Given the description of an element on the screen output the (x, y) to click on. 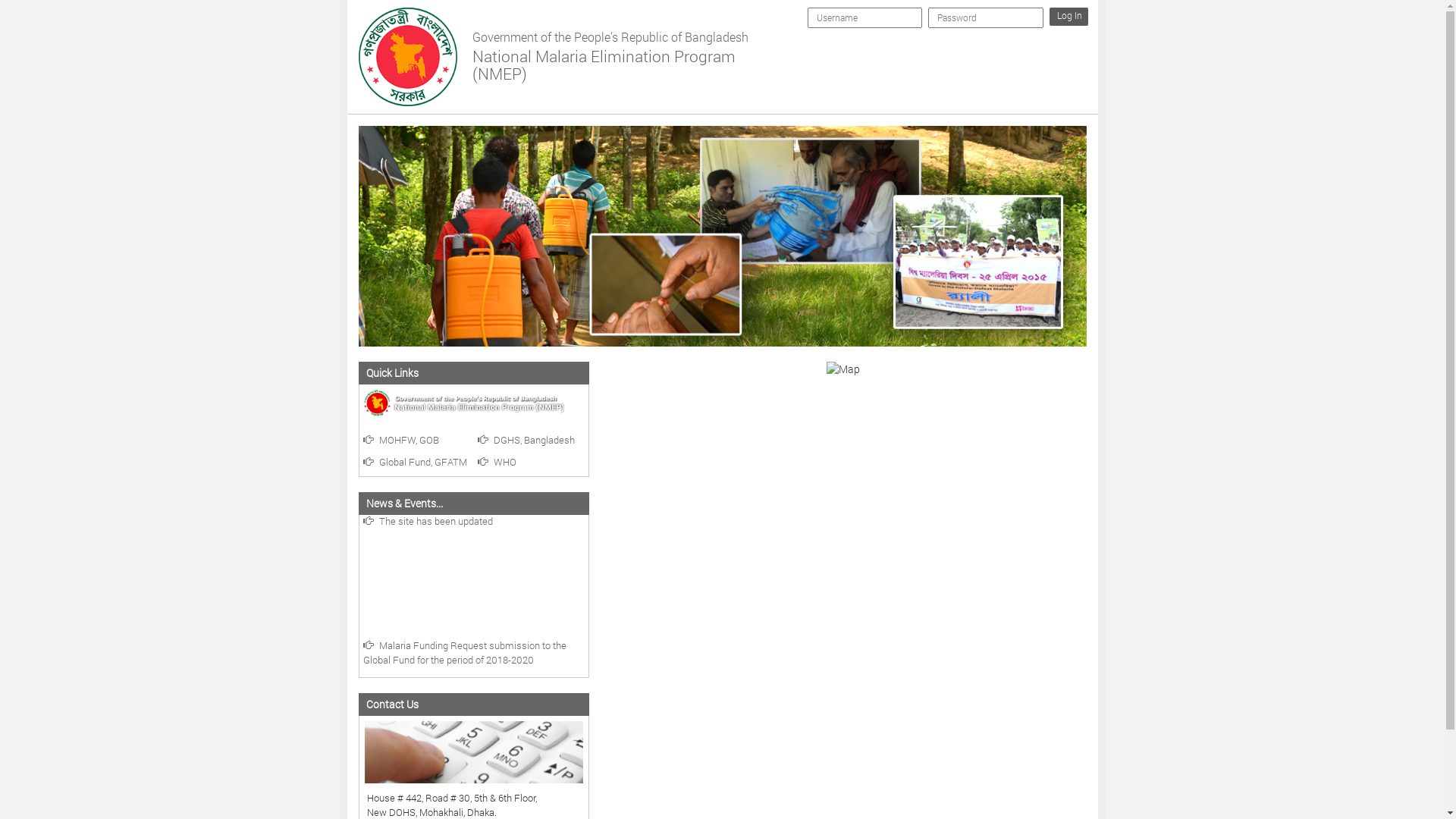
Log In Element type: text (1068, 16)
DGHS, Bangladesh Element type: text (525, 439)
The site has been updated Element type: text (470, 544)
WHO Element type: text (496, 461)
World Malaria Day 2016 Element type: text (470, 531)
Global Fund, GFATM Element type: text (414, 461)
MOHFW, GOB Element type: text (400, 439)
